Given the description of an element on the screen output the (x, y) to click on. 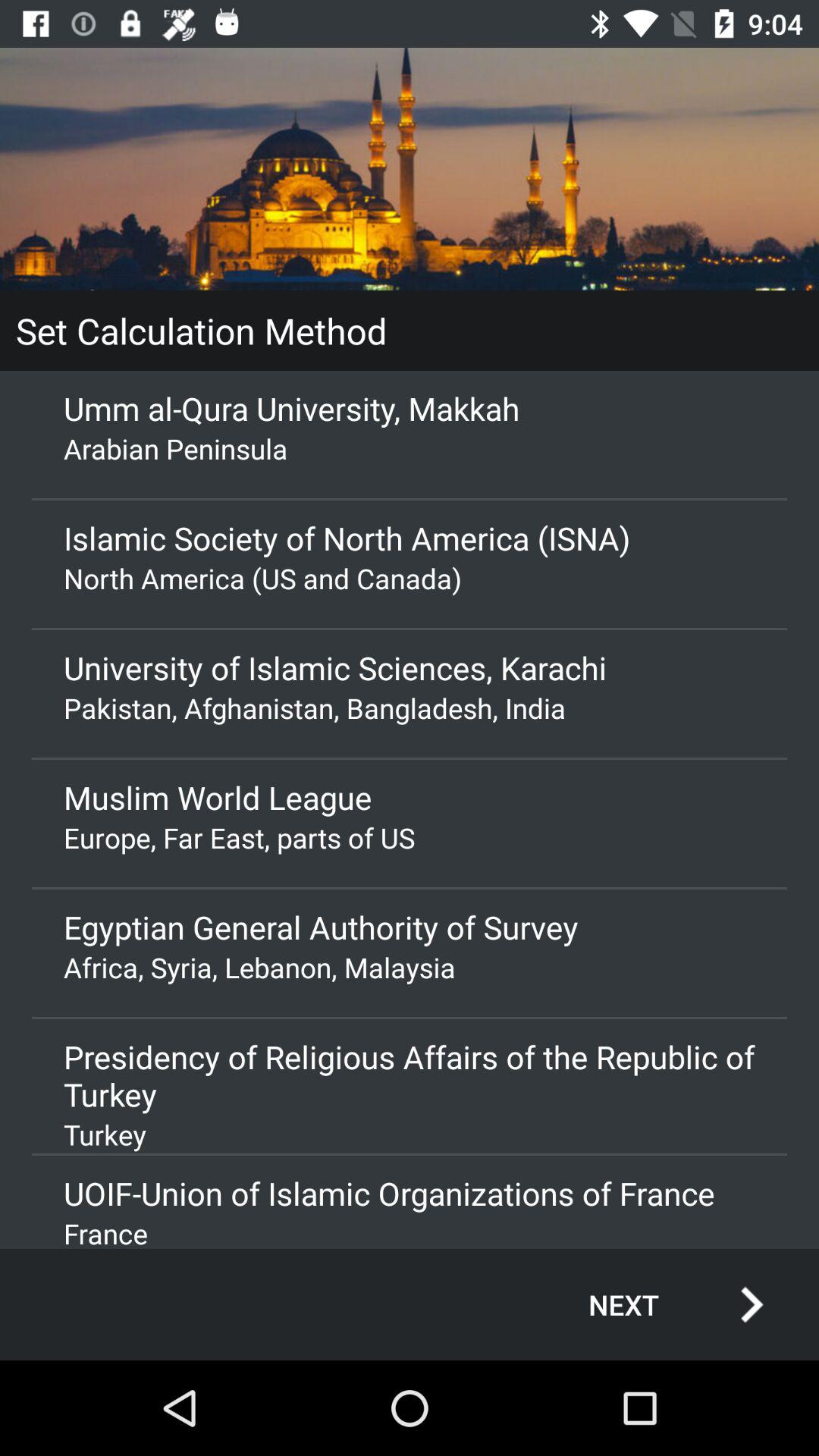
launch the app above arabian peninsula (409, 407)
